Given the description of an element on the screen output the (x, y) to click on. 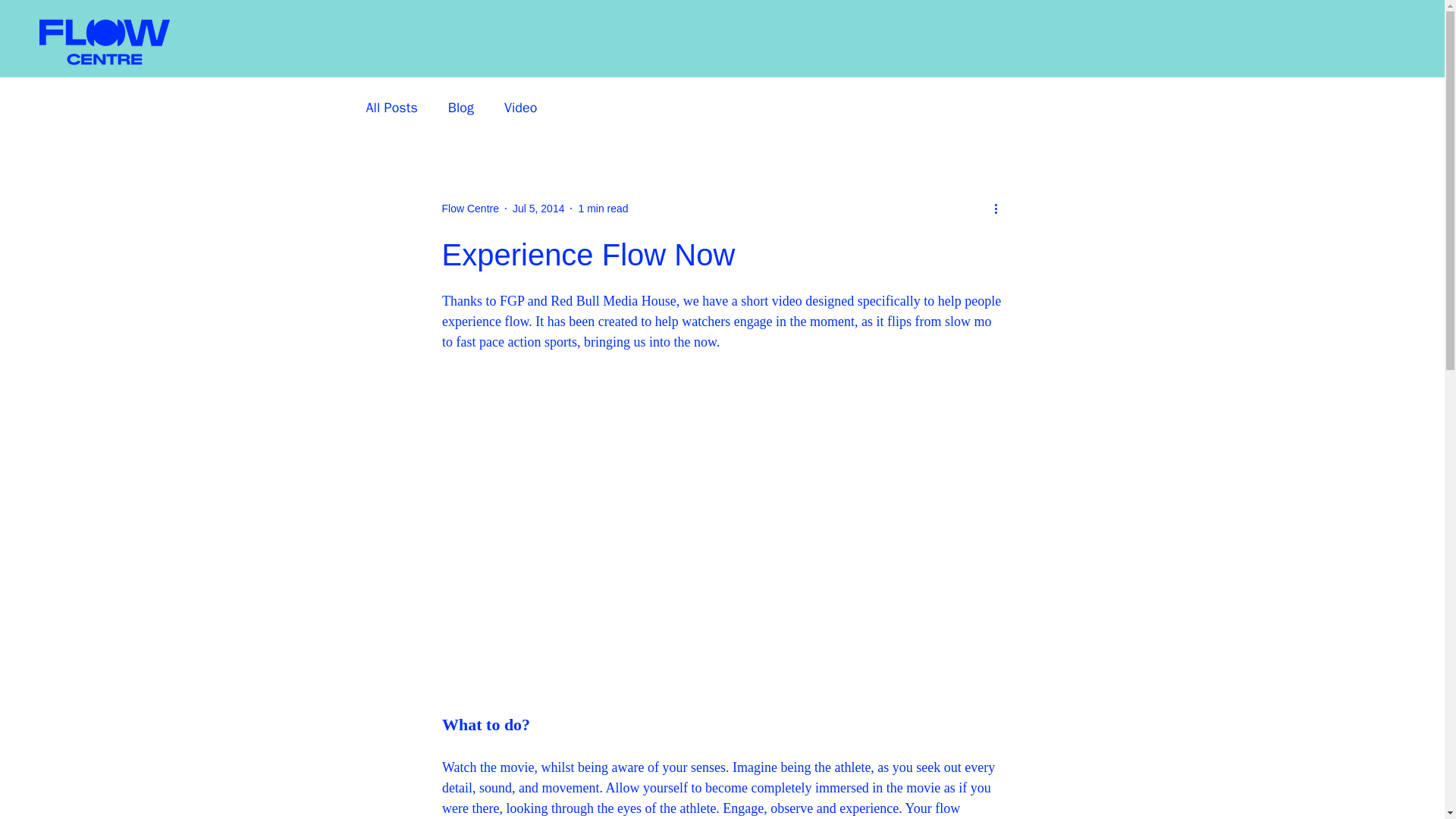
Jul 5, 2014 (538, 207)
All Posts (390, 107)
Flow Centre (469, 207)
Blog (461, 107)
1 min read (602, 207)
Flow Centre (469, 207)
Video (520, 107)
